Given the description of an element on the screen output the (x, y) to click on. 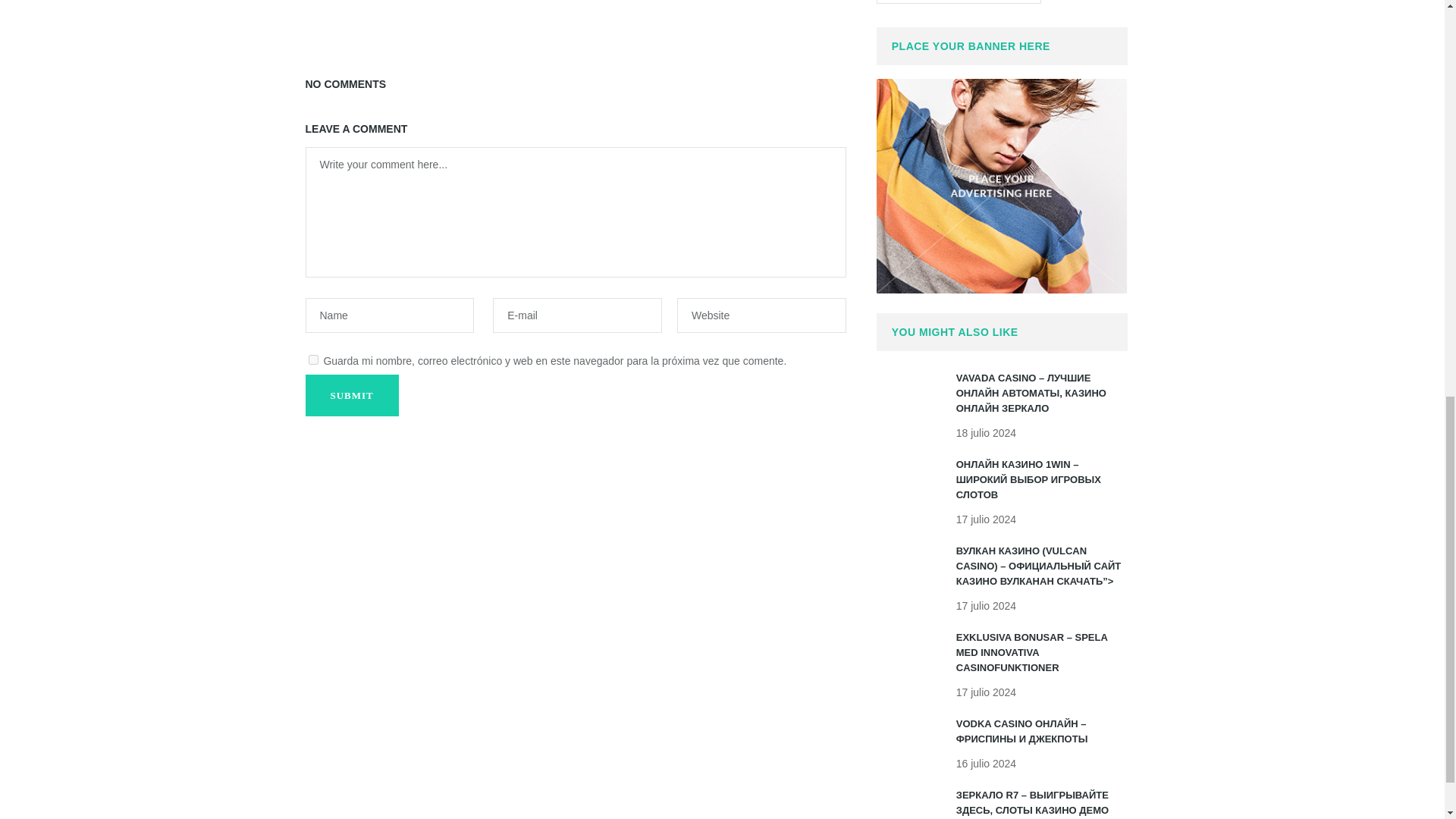
WWW.SUMMUSMEDIA.COM (958, 2)
Submit (350, 395)
Submit (350, 395)
yes (312, 359)
